Given the description of an element on the screen output the (x, y) to click on. 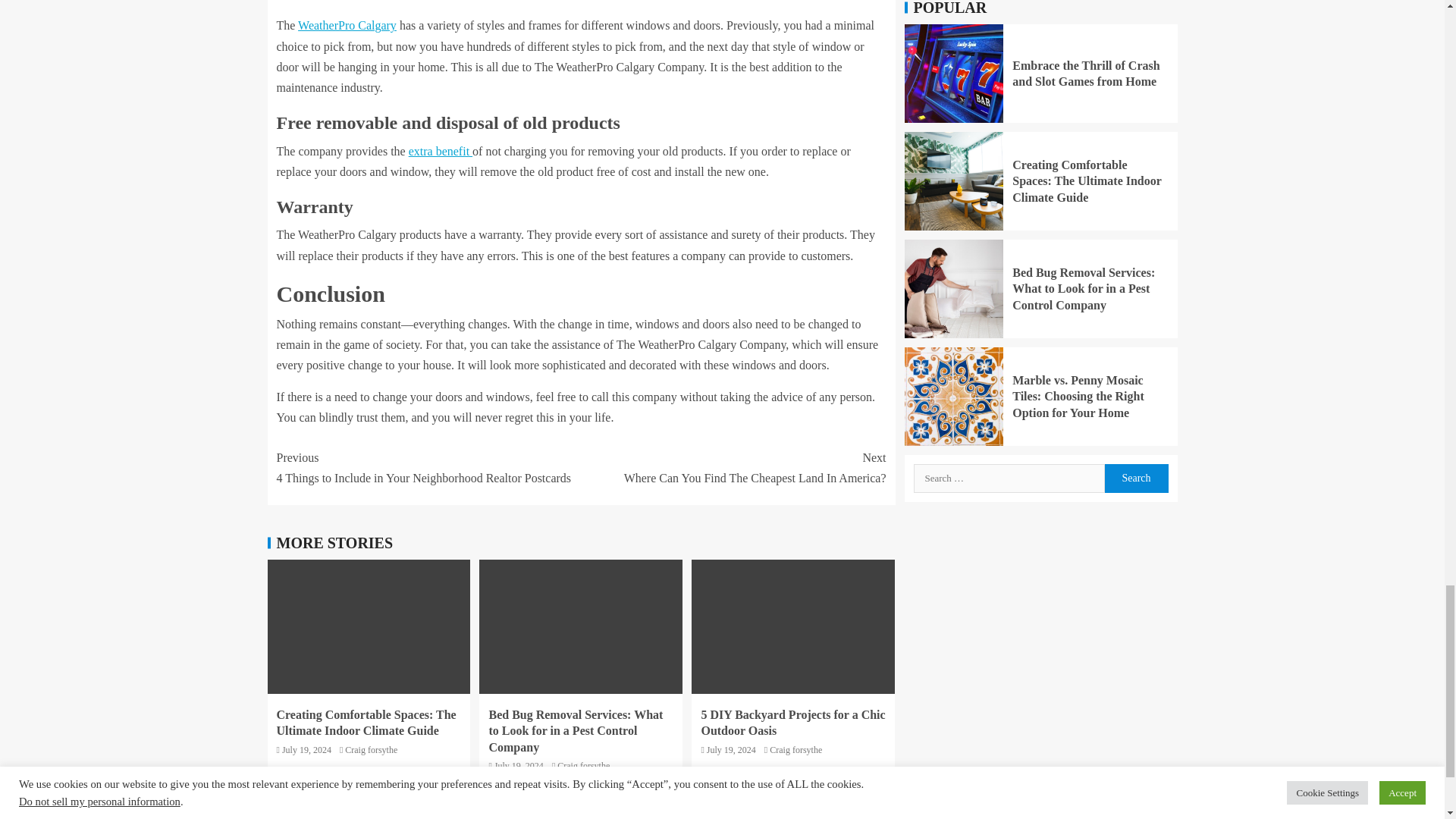
extra benefit (440, 151)
WeatherPro Calgary (347, 24)
Craig forsythe (732, 467)
